Given the description of an element on the screen output the (x, y) to click on. 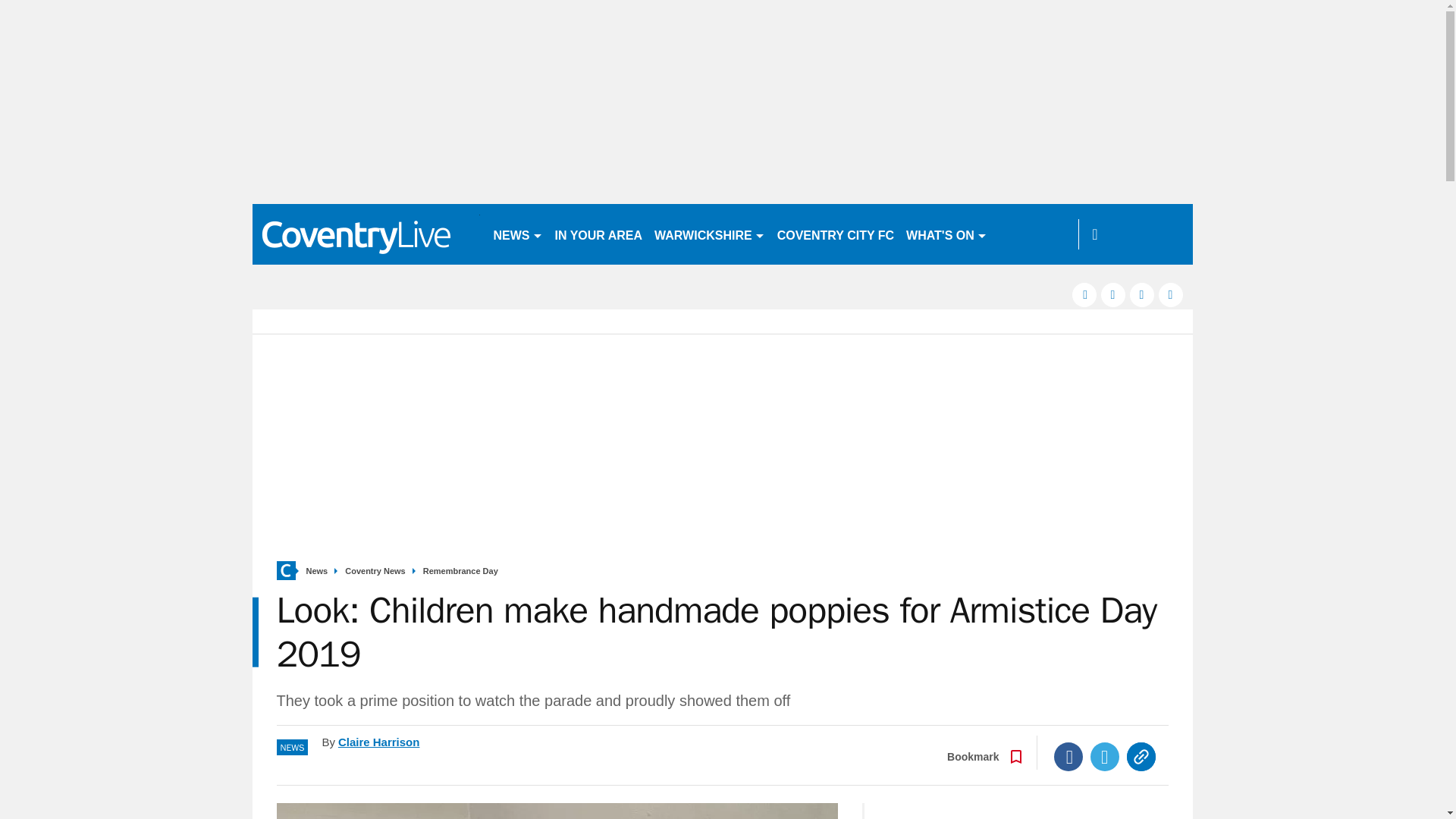
pinterest (1141, 294)
NEWS (517, 233)
coventrytelegraph (365, 233)
Facebook (1068, 756)
WASPS RFC (1034, 233)
Twitter (1104, 756)
WARWICKSHIRE (709, 233)
COVENTRY CITY FC (835, 233)
instagram (1170, 294)
facebook (1083, 294)
